Given the description of an element on the screen output the (x, y) to click on. 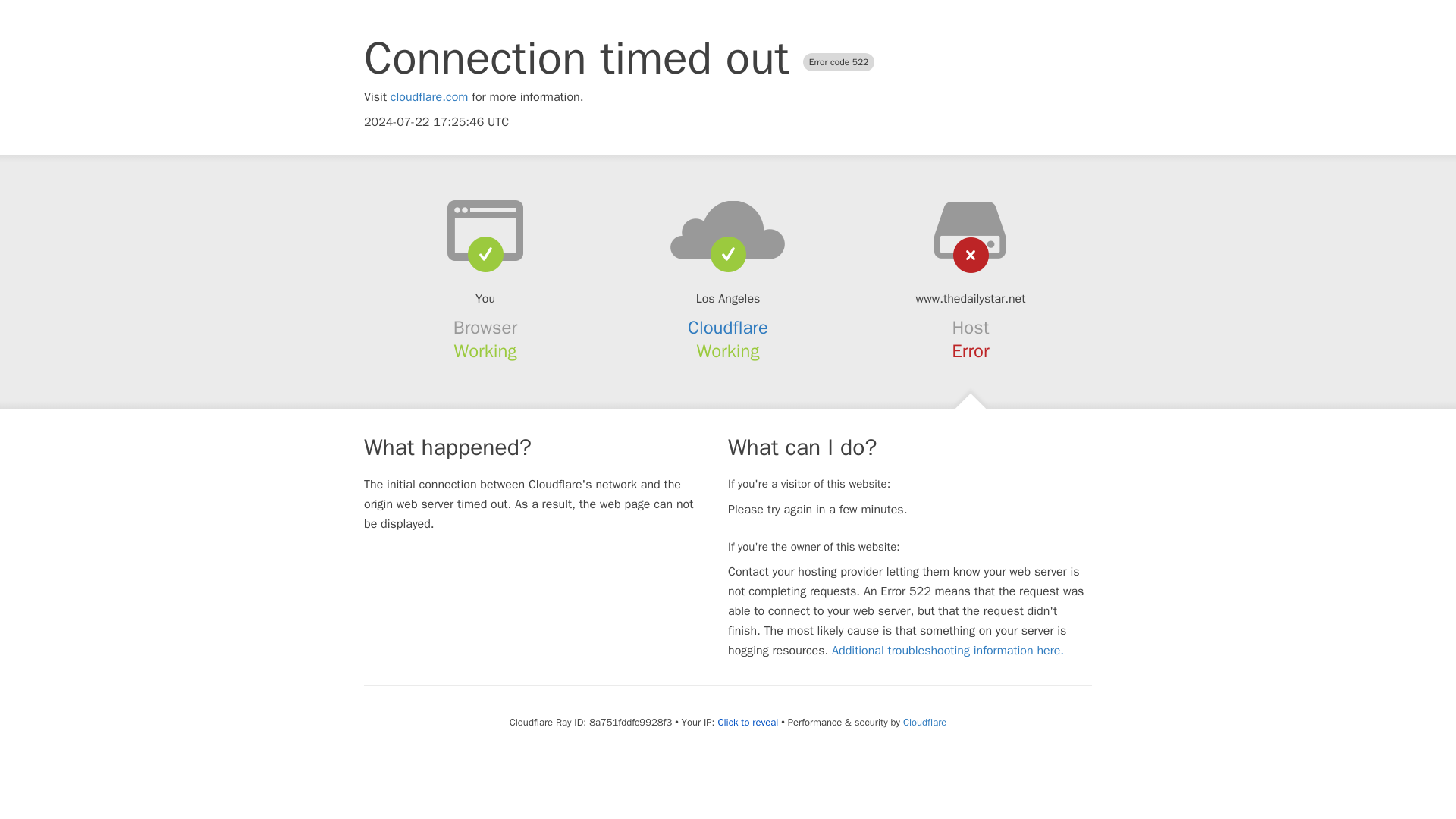
Cloudflare (727, 327)
cloudflare.com (429, 96)
Click to reveal (747, 722)
Cloudflare (924, 721)
Additional troubleshooting information here. (947, 650)
